Given the description of an element on the screen output the (x, y) to click on. 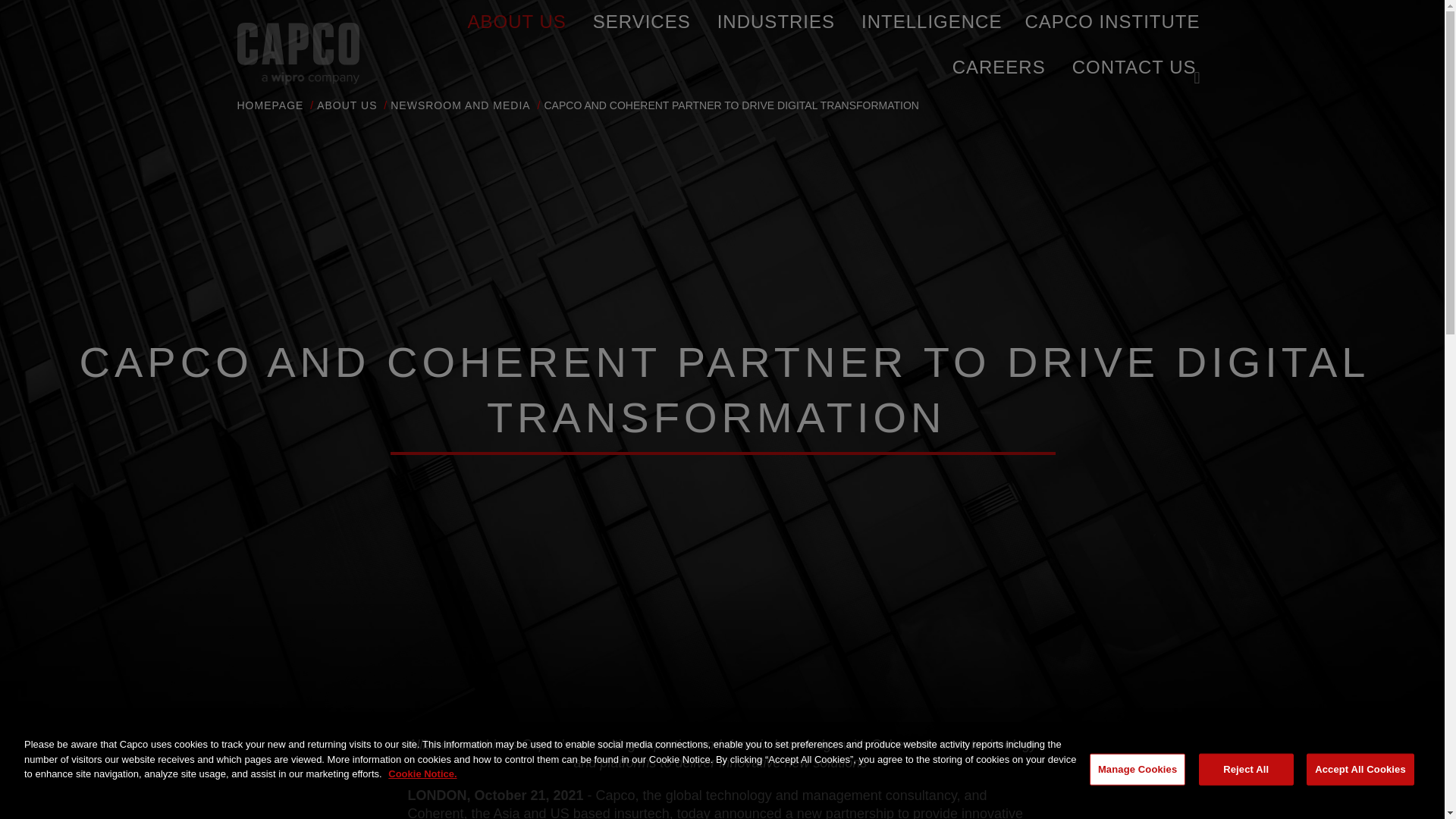
CAPCO INSTITUTE (1111, 22)
INDUSTRIES (775, 22)
SERVICES (640, 22)
INTELLIGENCE (931, 22)
ABOUT US (515, 22)
CAREERS (998, 67)
